Given the description of an element on the screen output the (x, y) to click on. 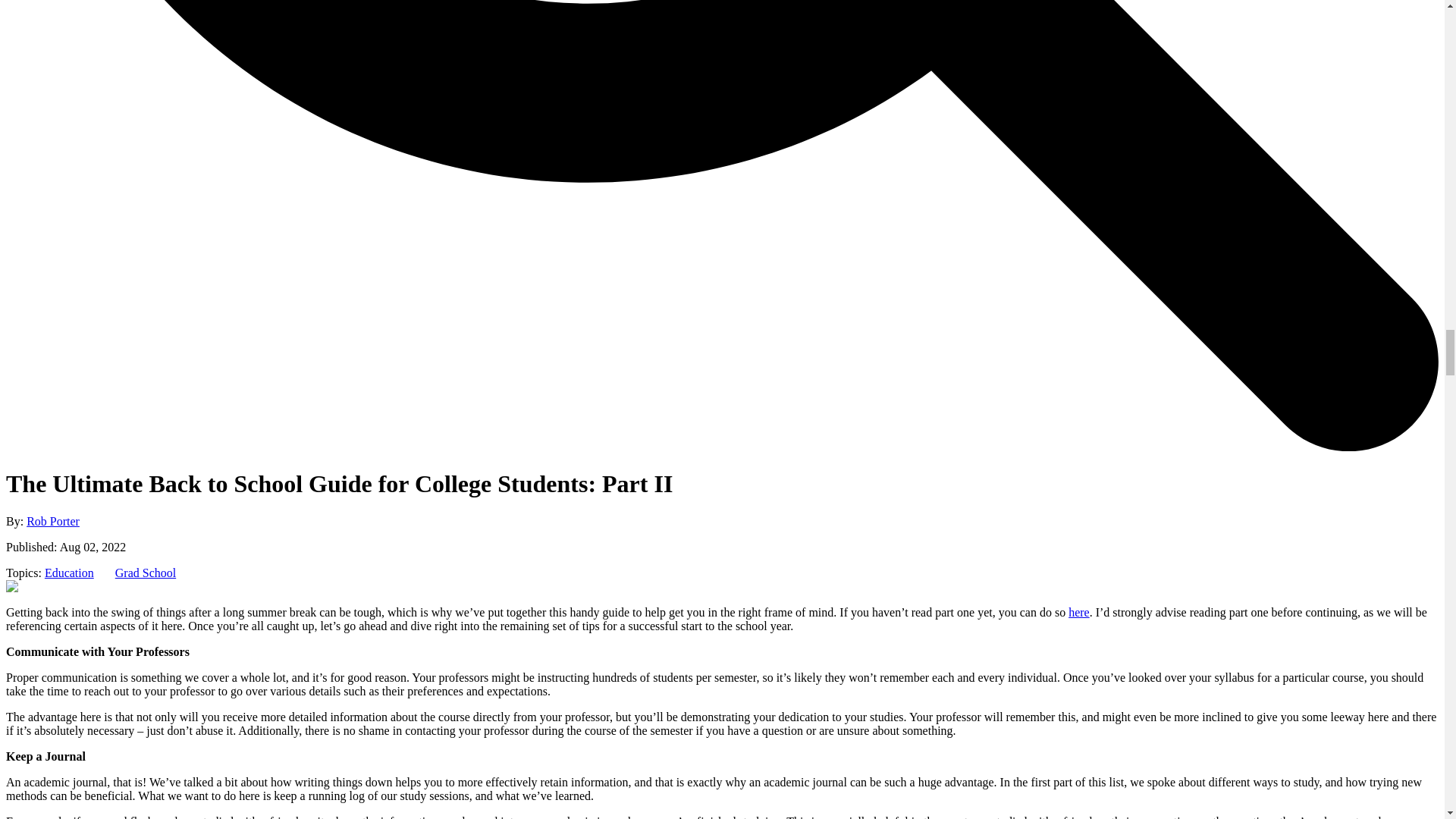
here (1078, 612)
Education (69, 572)
Rob Porter (53, 521)
Grad School (145, 572)
